Given the description of an element on the screen output the (x, y) to click on. 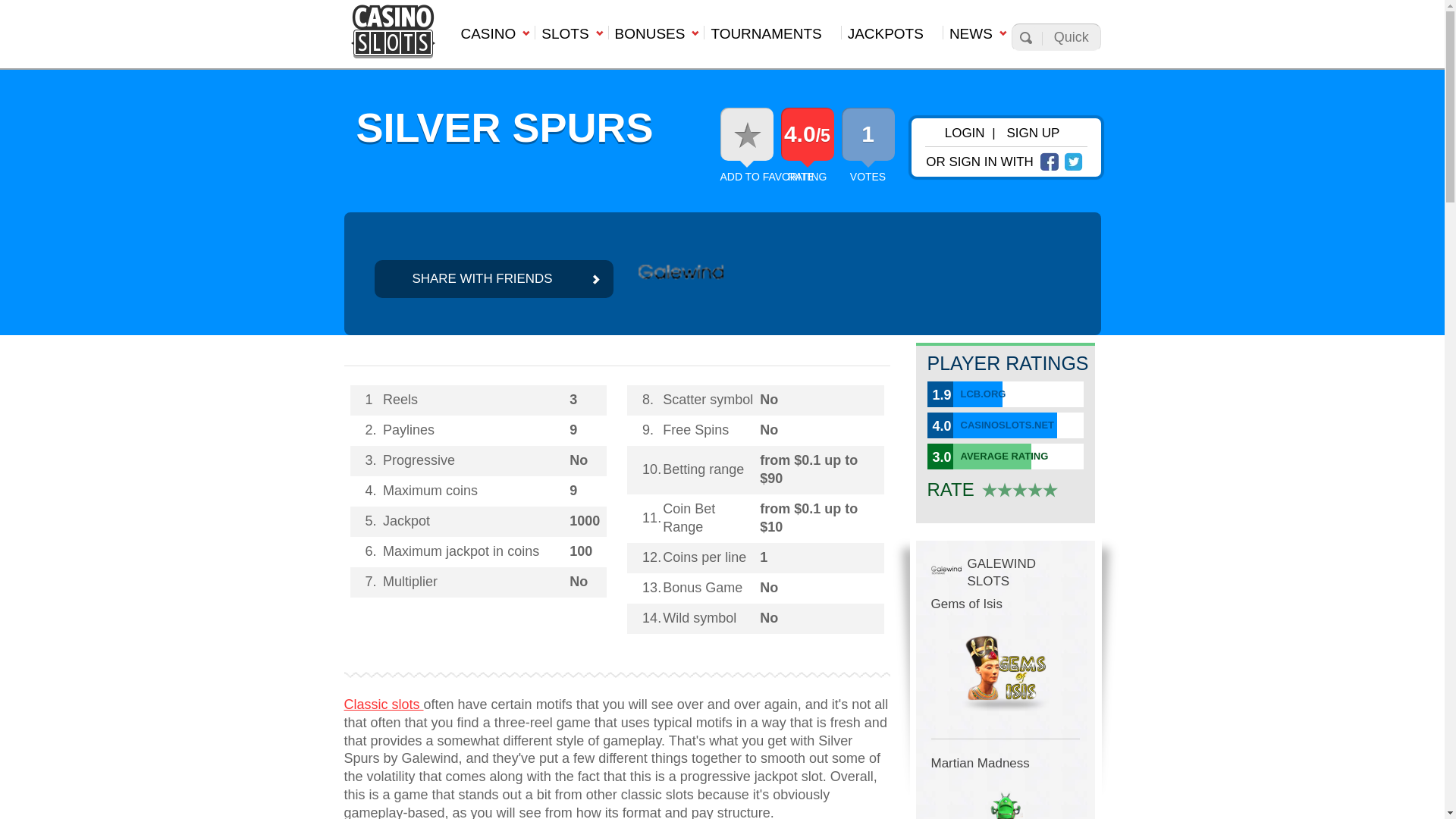
CASINO (493, 37)
NEWS (976, 37)
BONUSES (656, 37)
SIGN UP (1032, 133)
Add this slot to your favourites (766, 175)
Classic Slots (383, 703)
All slots developed by Galewind (681, 278)
JACKPOTS (891, 37)
TOURNAMENTS (771, 37)
ADD TO FAVORITE (766, 175)
